Given the description of an element on the screen output the (x, y) to click on. 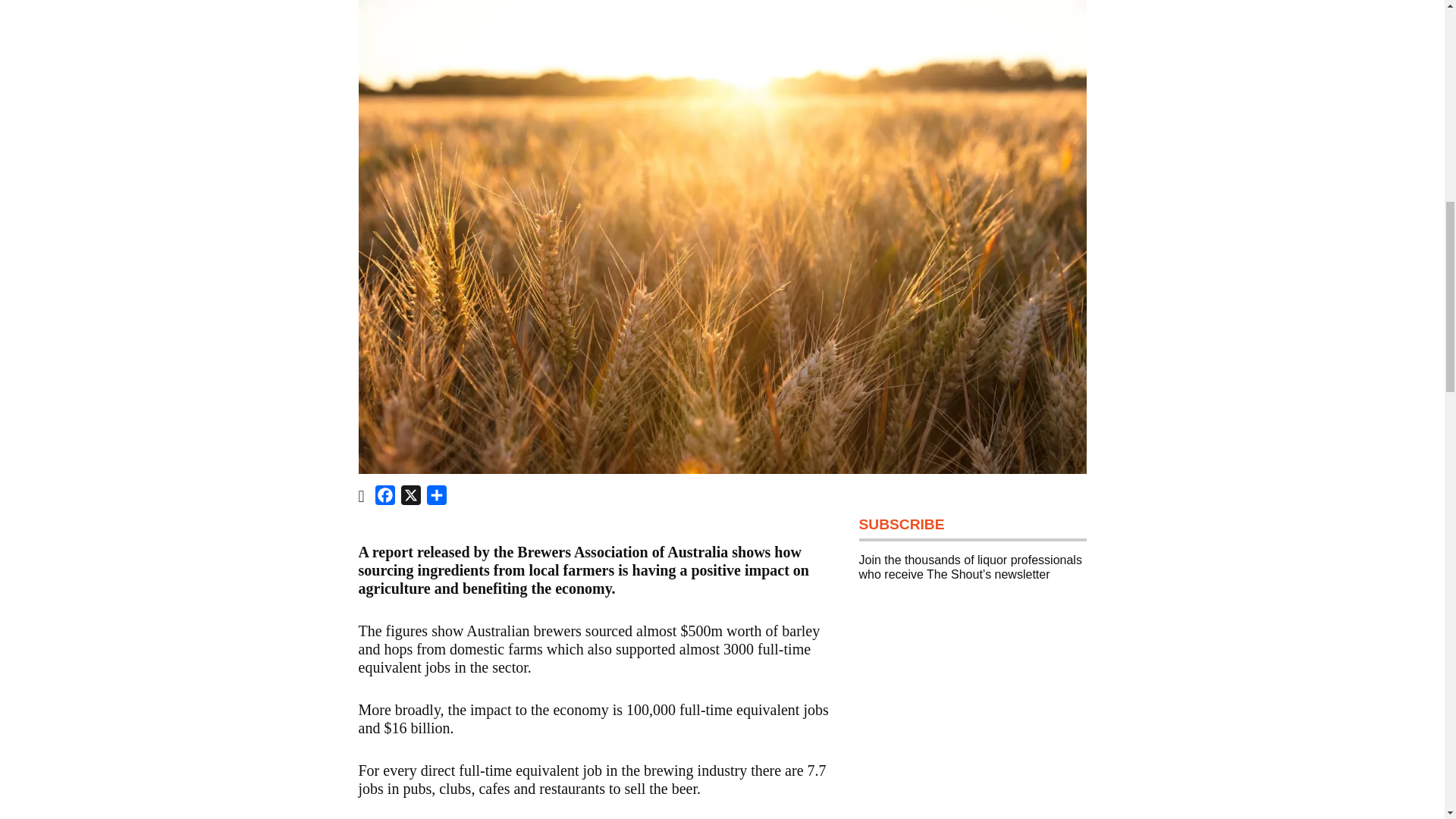
3rd party ad content (972, 712)
Facebook (384, 498)
X (410, 498)
